Given the description of an element on the screen output the (x, y) to click on. 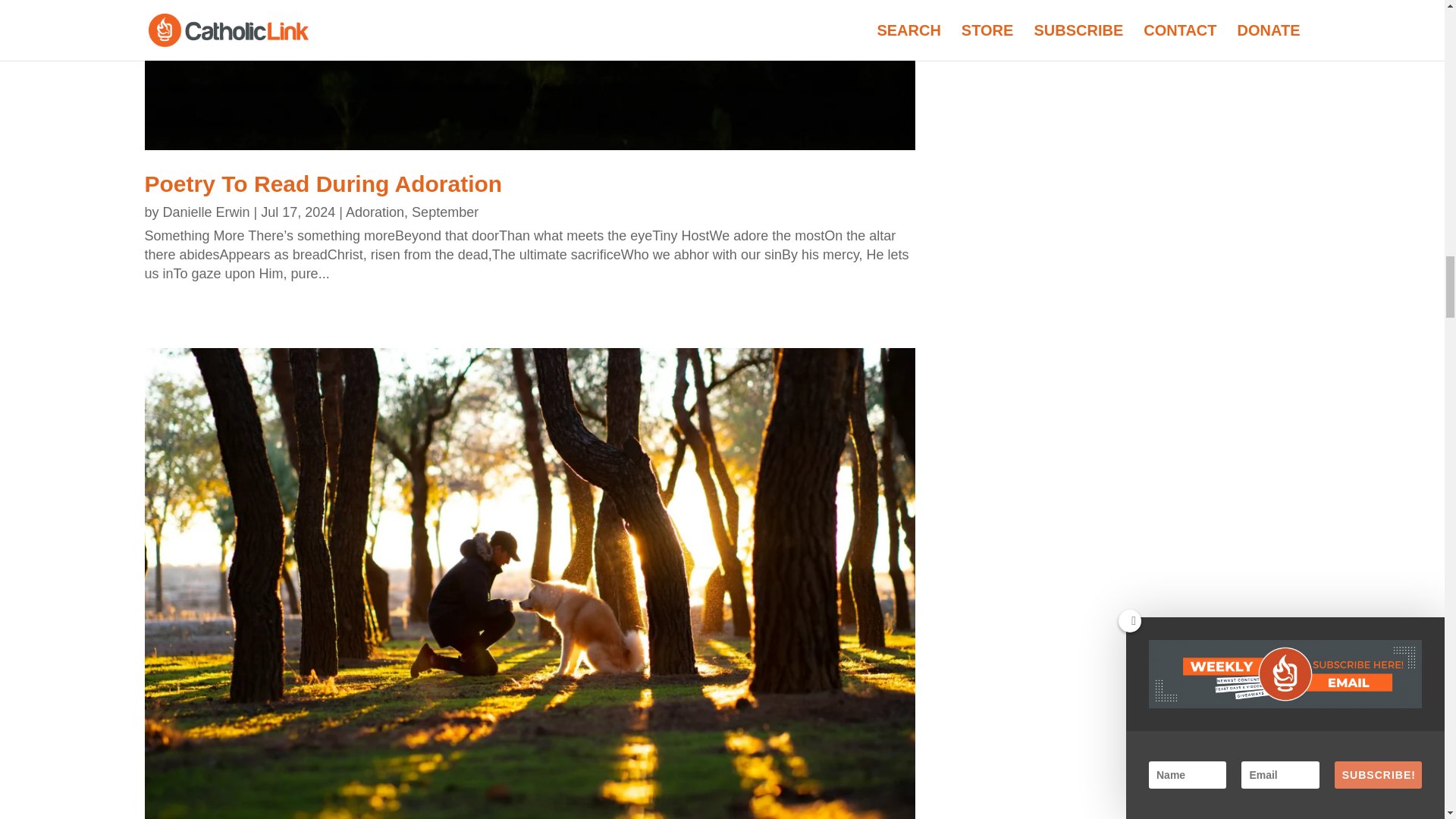
Posts by Danielle Erwin (206, 212)
September (445, 212)
Adoration (375, 212)
Danielle Erwin (206, 212)
Poetry To Read During Adoration (323, 183)
